Given the description of an element on the screen output the (x, y) to click on. 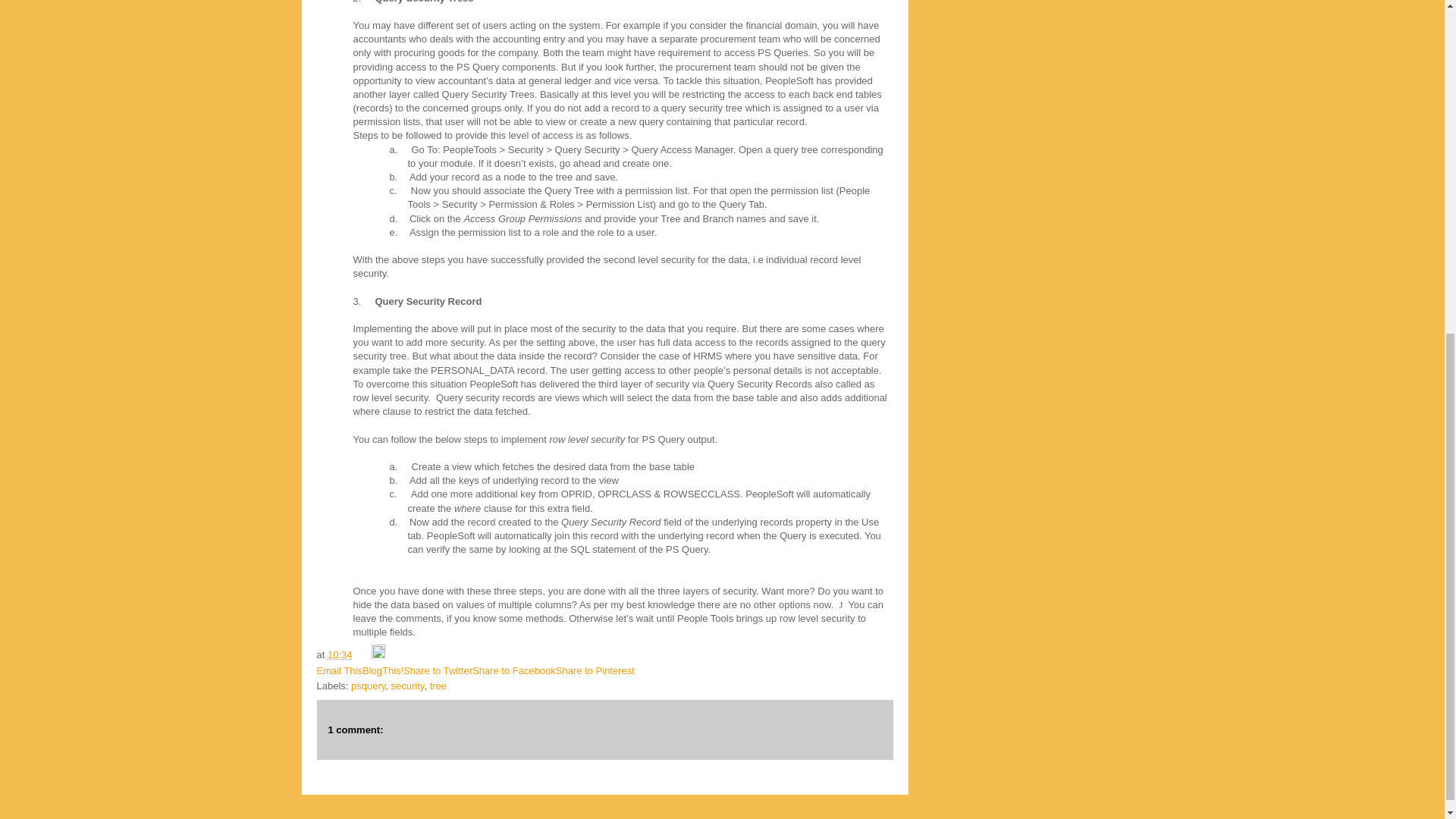
BlogThis! (382, 670)
Share to Pinterest (595, 670)
Email This (339, 670)
psquery (367, 685)
Email Post (363, 654)
Share to Pinterest (595, 670)
Share to Twitter (437, 670)
Email This (339, 670)
Share to Twitter (437, 670)
Share to Facebook (513, 670)
10:34 (339, 654)
Share to Facebook (513, 670)
security (408, 685)
Edit Post (378, 654)
tree (437, 685)
